Given the description of an element on the screen output the (x, y) to click on. 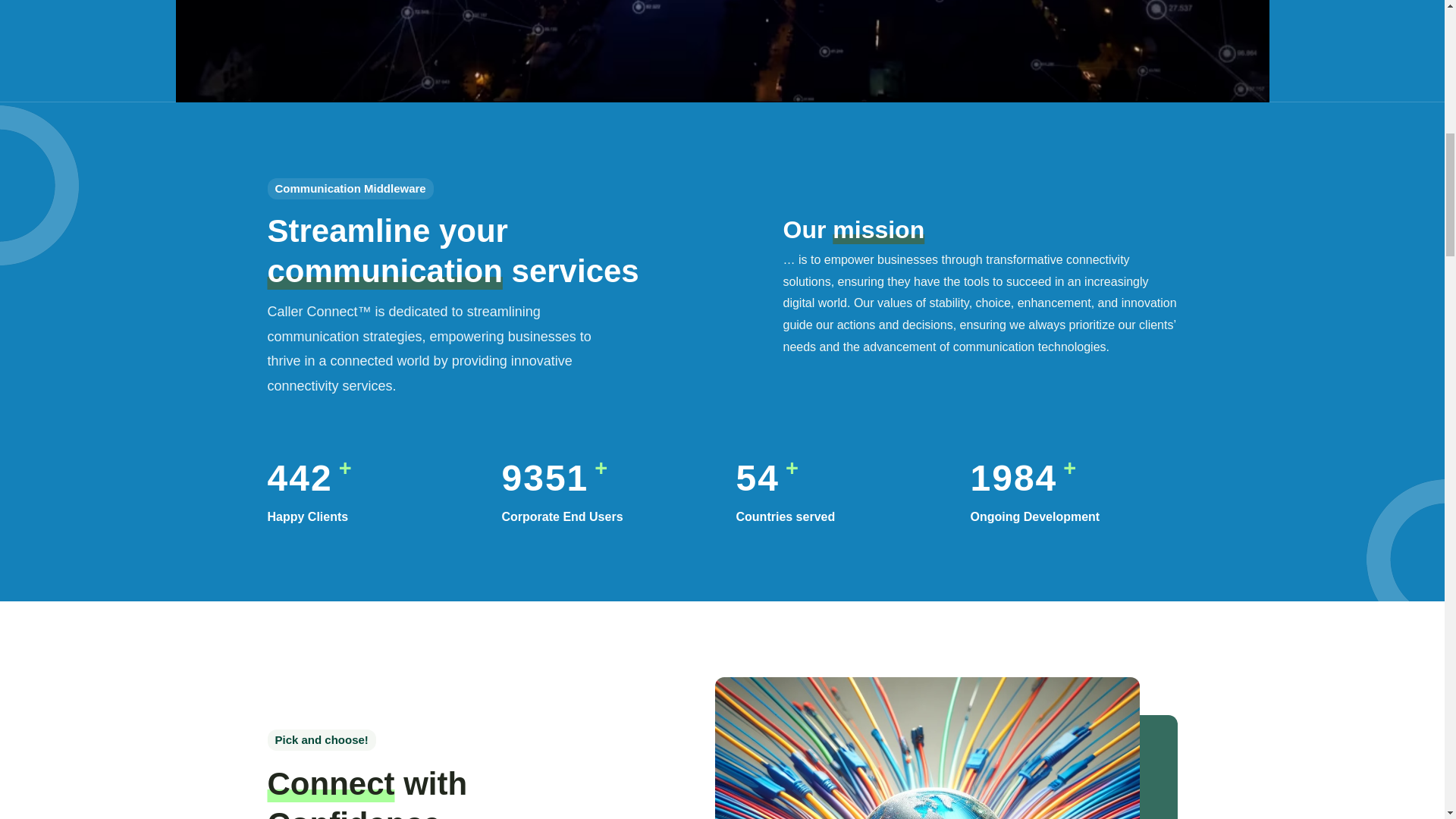
cc-connect (926, 748)
